Given the description of an element on the screen output the (x, y) to click on. 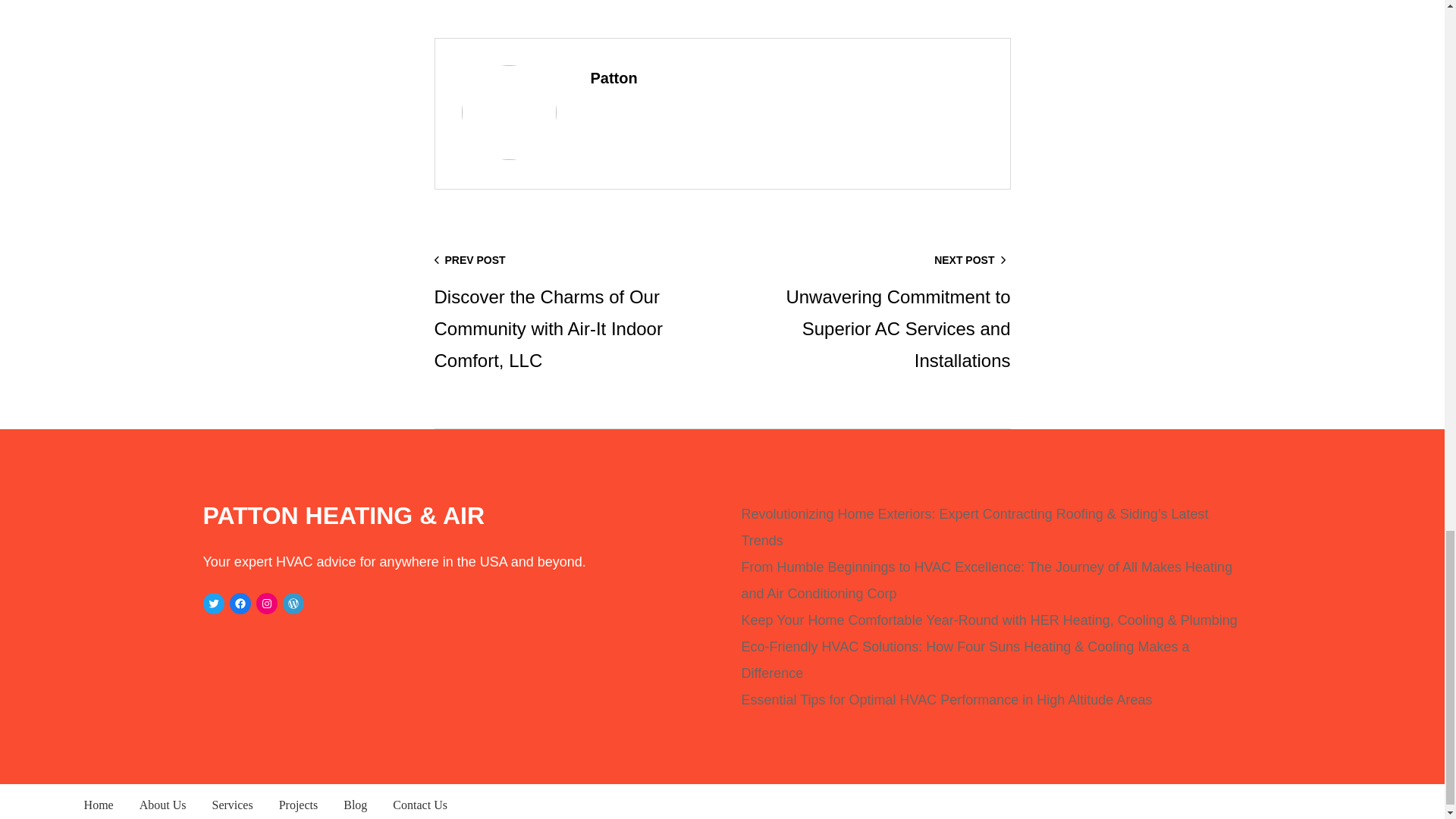
Facebook (239, 603)
Instagram (267, 603)
WordPress (292, 603)
Twitter (213, 603)
